Given the description of an element on the screen output the (x, y) to click on. 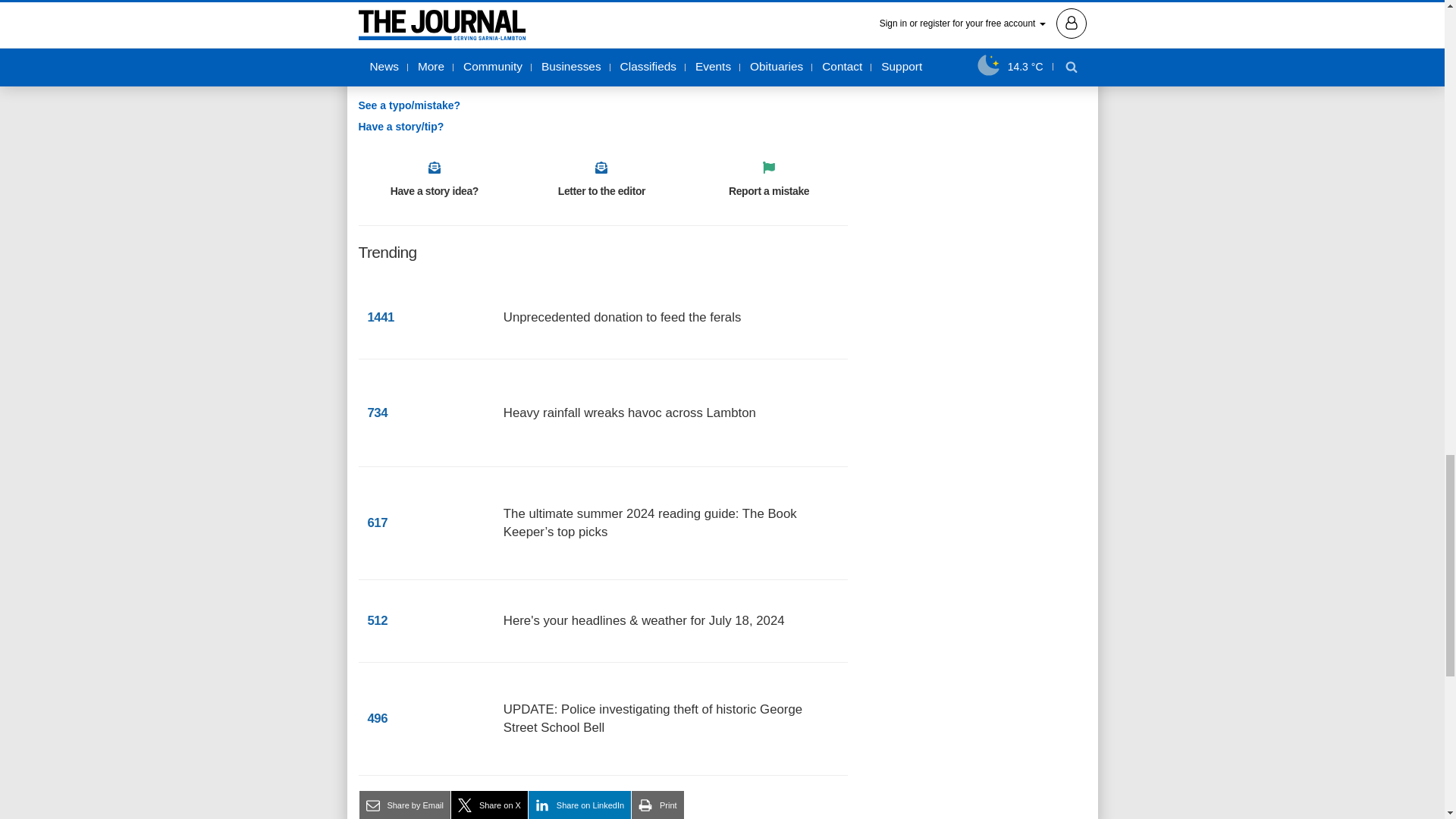
3rd party ad content (972, 159)
Sign me up (812, 51)
